Given the description of an element on the screen output the (x, y) to click on. 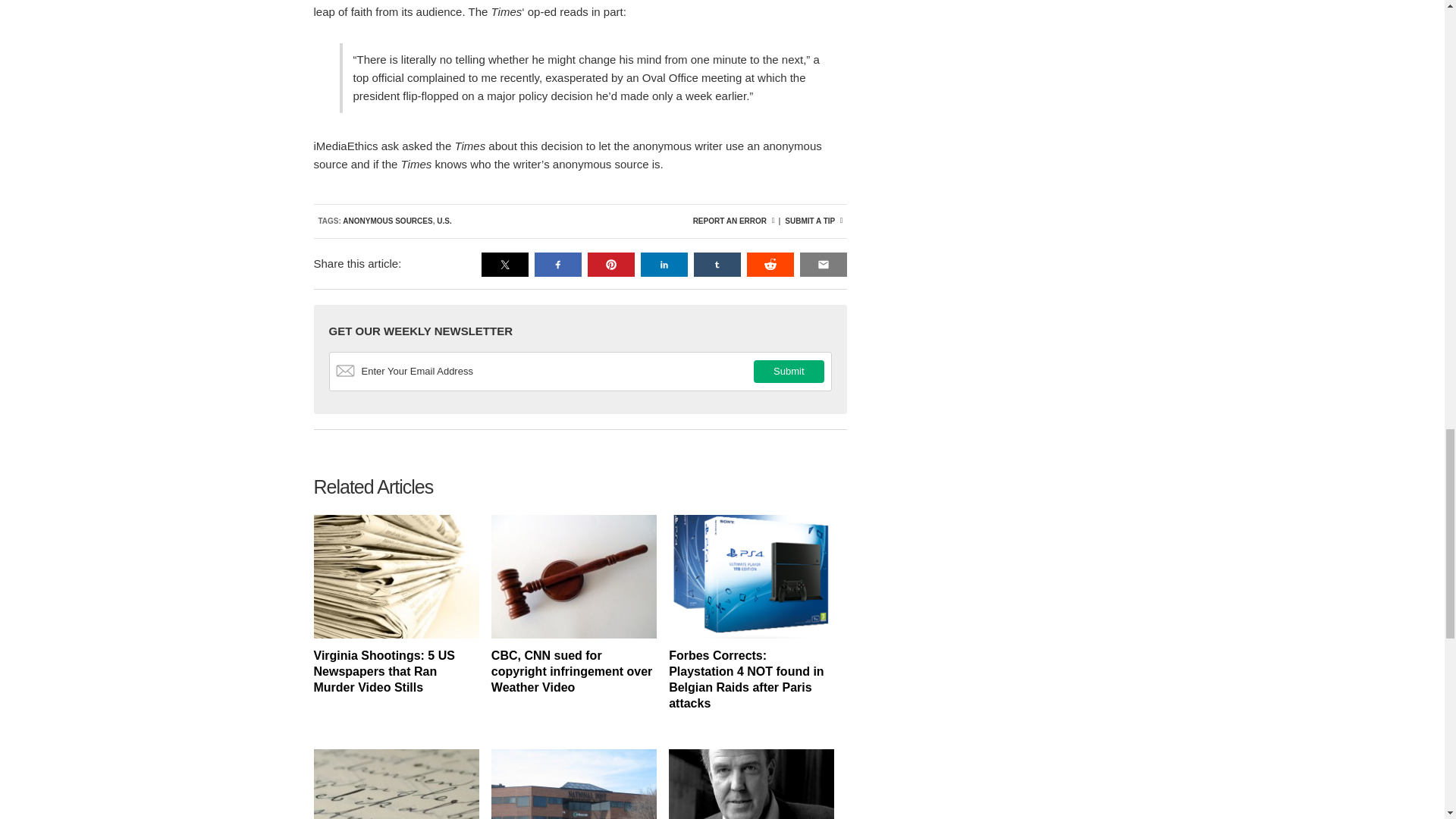
Submit (789, 371)
